Given the description of an element on the screen output the (x, y) to click on. 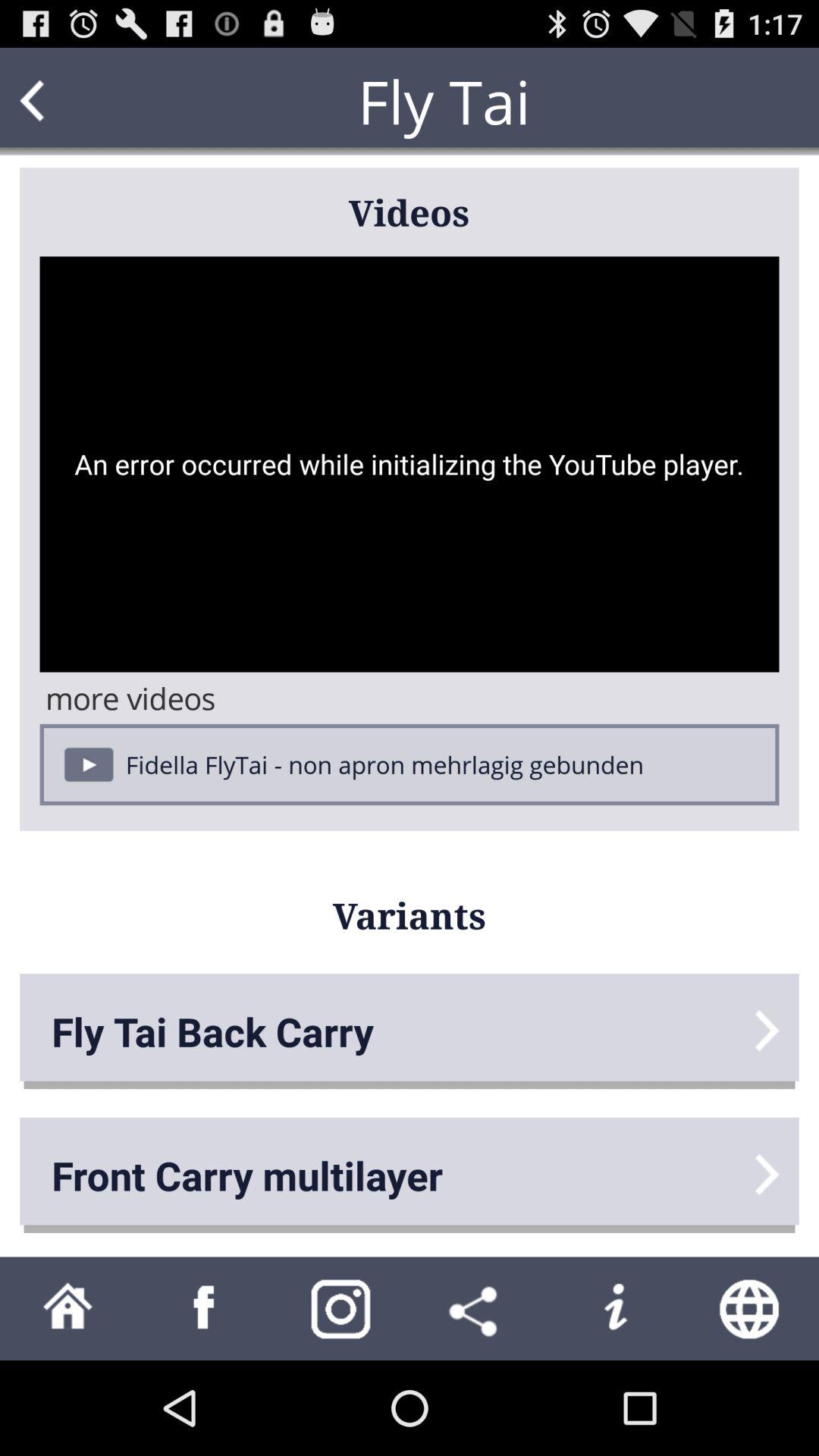
select item at the top left corner (61, 101)
